Given the description of an element on the screen output the (x, y) to click on. 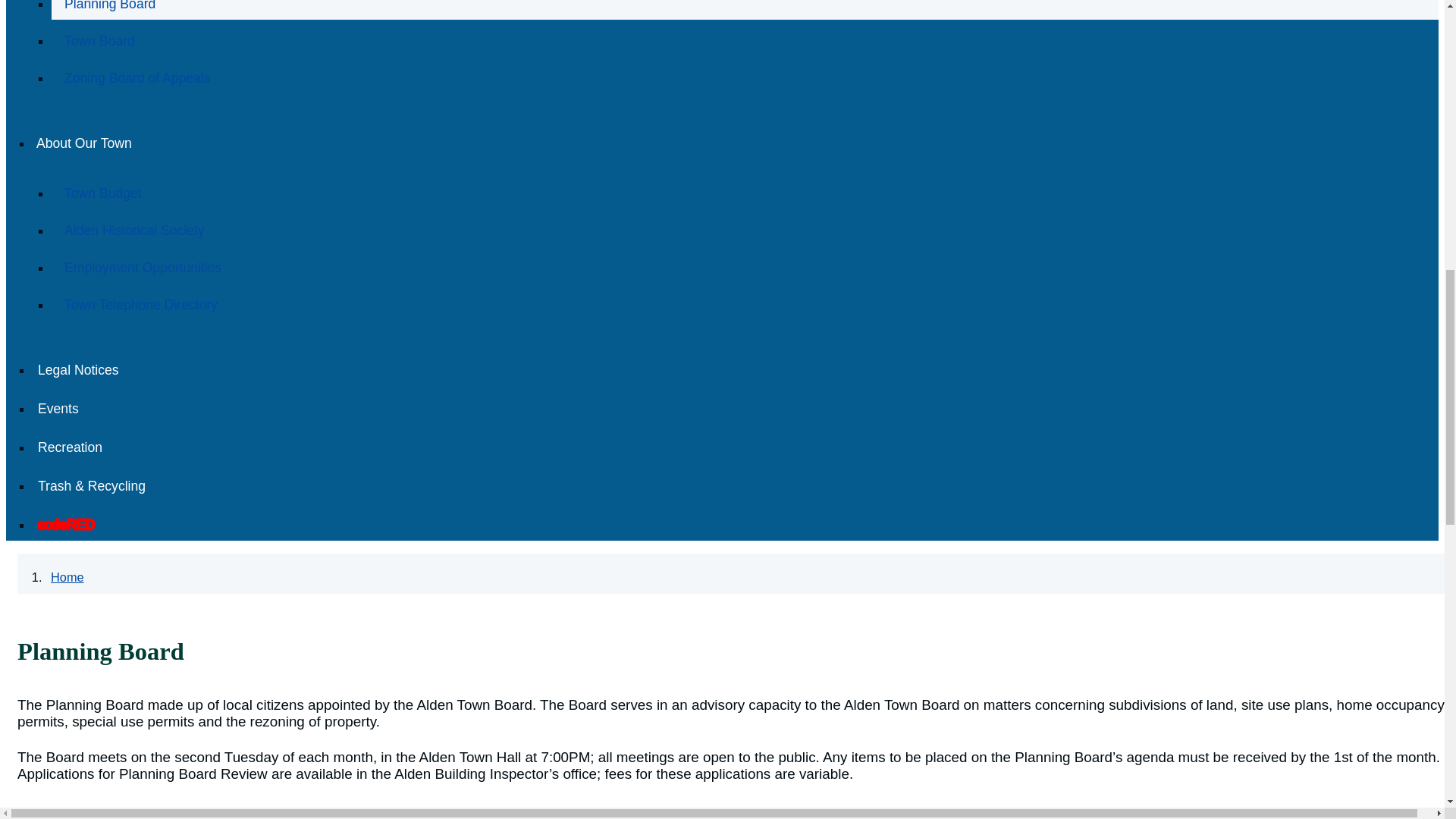
Employment Opportunities (142, 267)
Alden Historical Society (134, 230)
Town Board (99, 40)
Town Telephone Directory (140, 304)
Events (58, 408)
Home (67, 576)
Recreation (69, 447)
Town Budget (102, 193)
Zoning Board of Appeals (137, 77)
Planning Board (109, 6)
codeRED (66, 524)
Legal Notices (78, 370)
